Given the description of an element on the screen output the (x, y) to click on. 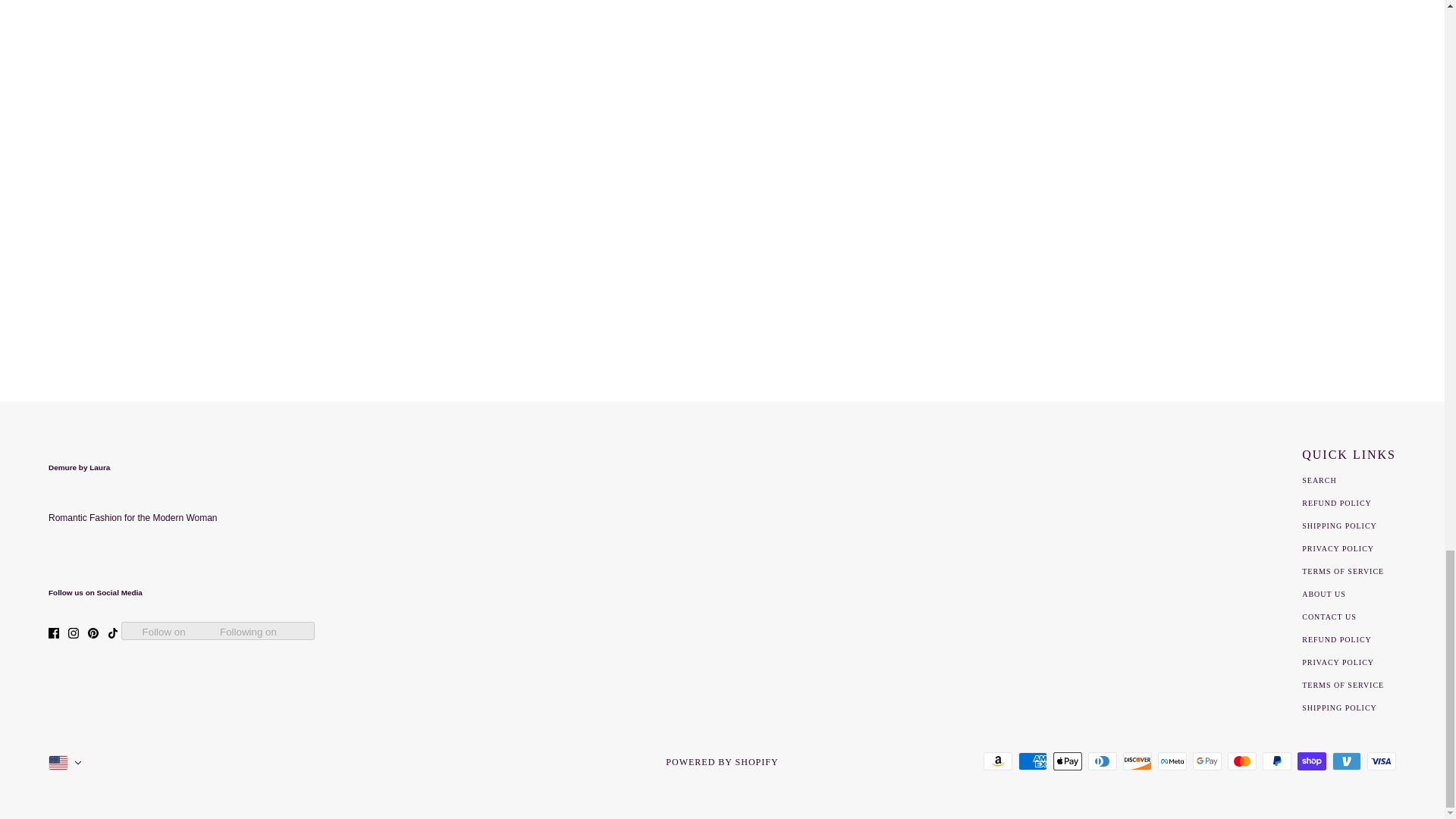
Terms of Service (1342, 571)
Refund Policy (1336, 502)
Privacy Policy (1337, 548)
Refund policy (1336, 639)
Terms of service (1342, 684)
Shipping Policy (1339, 525)
Privacy policy (1337, 662)
Contact Us (1328, 616)
Shipping policy (1339, 707)
About Us (1323, 593)
